Given the description of an element on the screen output the (x, y) to click on. 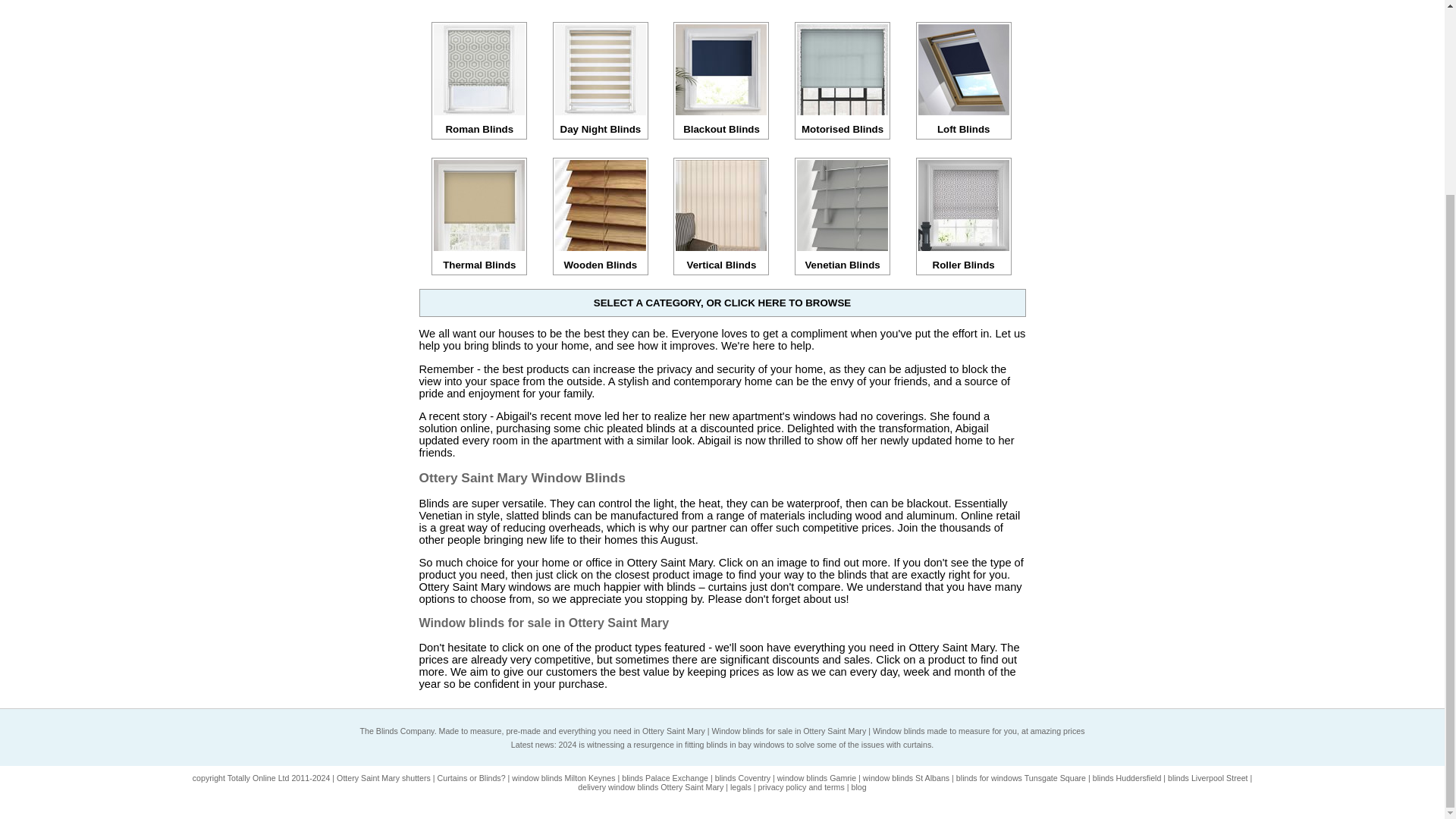
window blinds Gamrie (816, 777)
Day Night Blinds (600, 123)
Blackout Blinds (721, 123)
Roller Blinds (963, 259)
privacy policy and terms (800, 786)
Vertical Blinds (721, 259)
Totally Online Ltd (258, 777)
window blinds Milton Keynes (563, 777)
Venetian Blinds (842, 259)
blinds for windows Tunsgate Square (1021, 777)
